Given the description of an element on the screen output the (x, y) to click on. 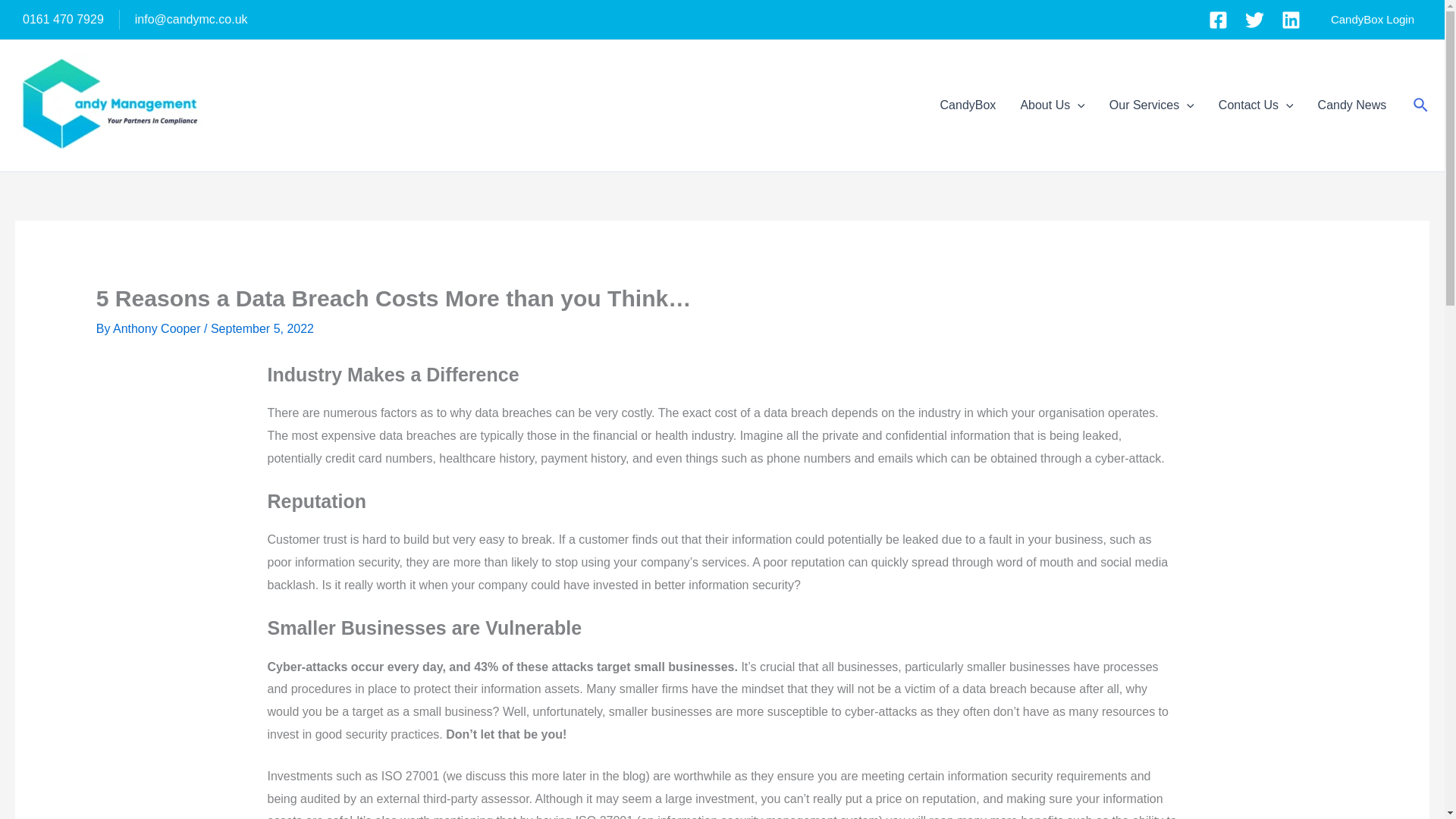
Candy News (1352, 105)
About Us (1051, 105)
Contact Us (1256, 105)
CandyBox Login (1372, 19)
Our Services (1152, 105)
CandyBox (968, 105)
View all posts by Anthony Cooper (158, 328)
